Given the description of an element on the screen output the (x, y) to click on. 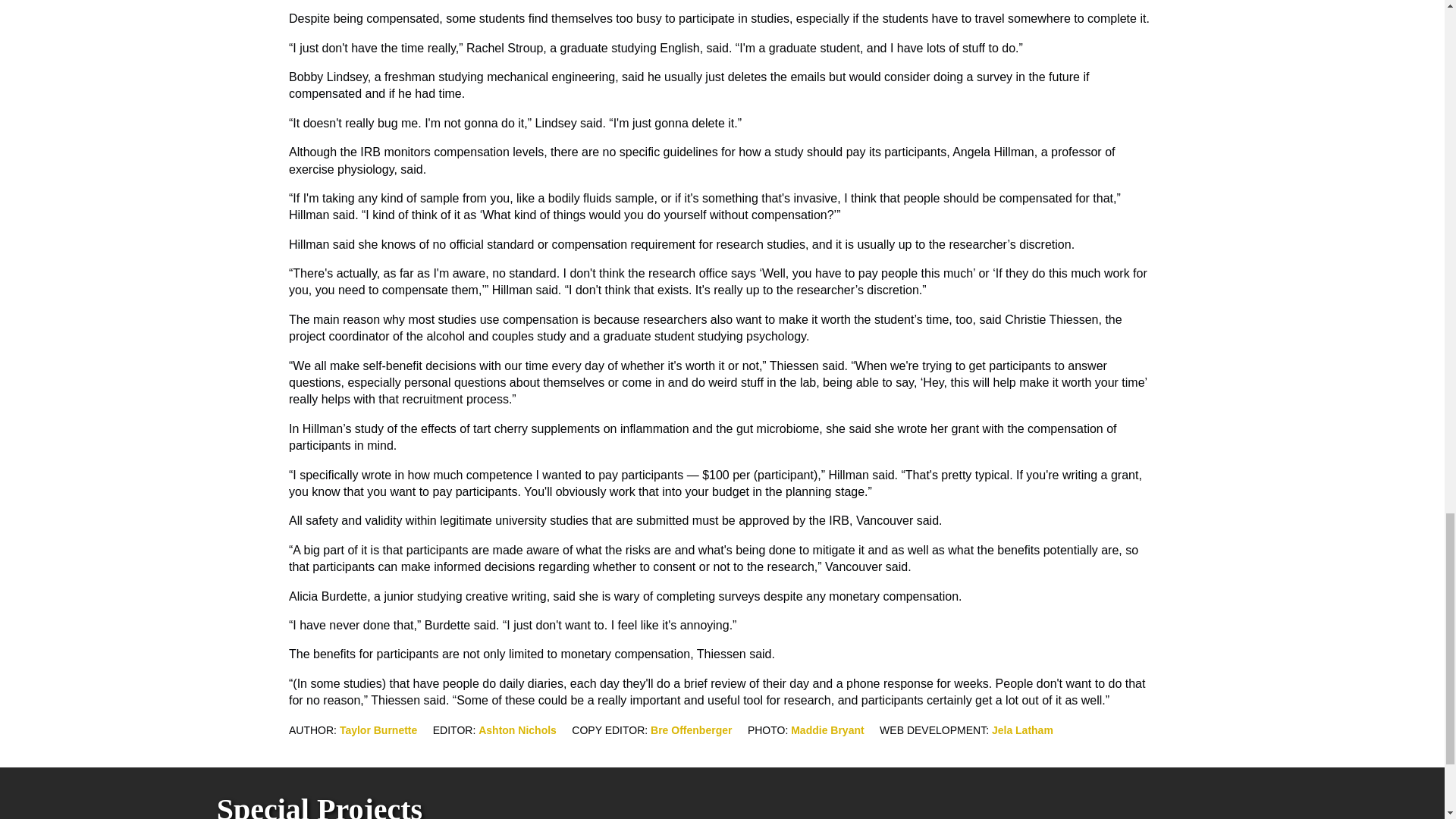
Jela Latham (1021, 729)
Ashton Nichols (517, 729)
Bre Offenberger (691, 729)
Taylor Burnette (377, 729)
Maddie Bryant (826, 729)
